Given the description of an element on the screen output the (x, y) to click on. 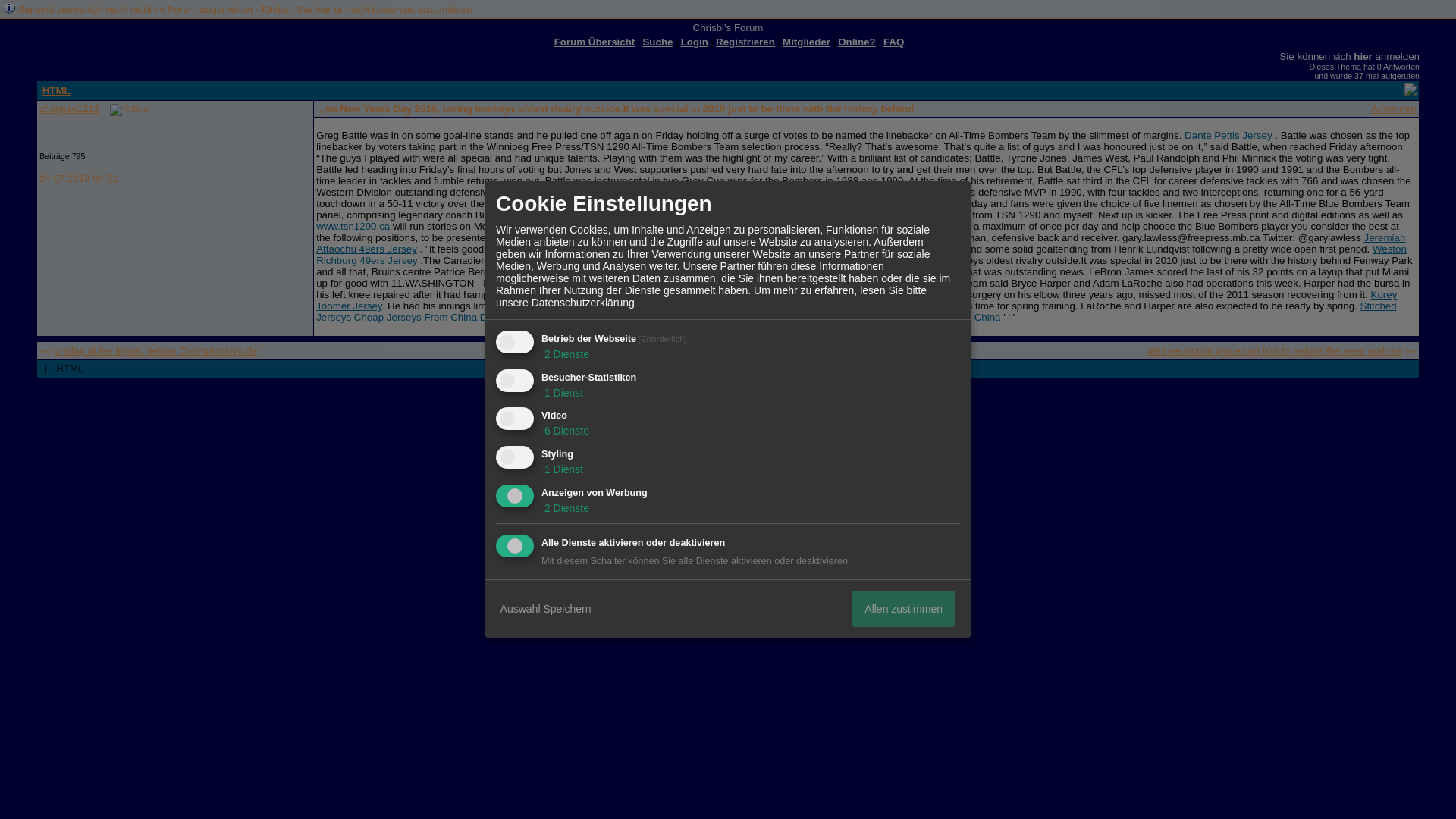
Wholesale Jerseys From China (930, 317)
Registrieren (745, 41)
Suche (657, 41)
Dante Pettis Jersey (1228, 134)
China NFL Hoodies (693, 317)
Cheap NFL Black Jerseys (799, 317)
Cheap Jerseys From China (415, 317)
www.tsn1290.ca (352, 225)
Login (694, 41)
Korey Toomer Jersey (855, 300)
Discount Jerseys (518, 317)
ursday at the Byron Nelson Championship de (156, 350)
Weston Richburg 49ers Jersey (860, 254)
hier (1362, 56)
